Given the description of an element on the screen output the (x, y) to click on. 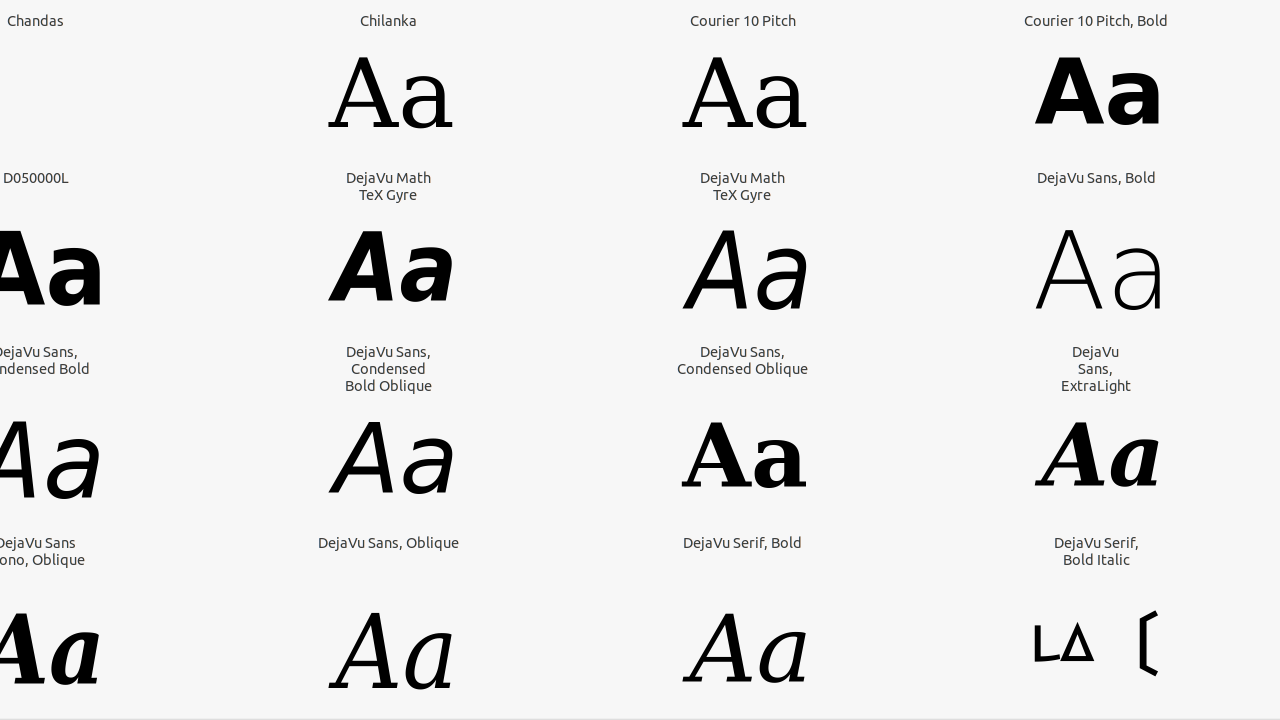
Courier 10 Pitch Element type: label (743, 20)
DejaVu Math TeX Gyre Element type: label (389, 186)
